Given the description of an element on the screen output the (x, y) to click on. 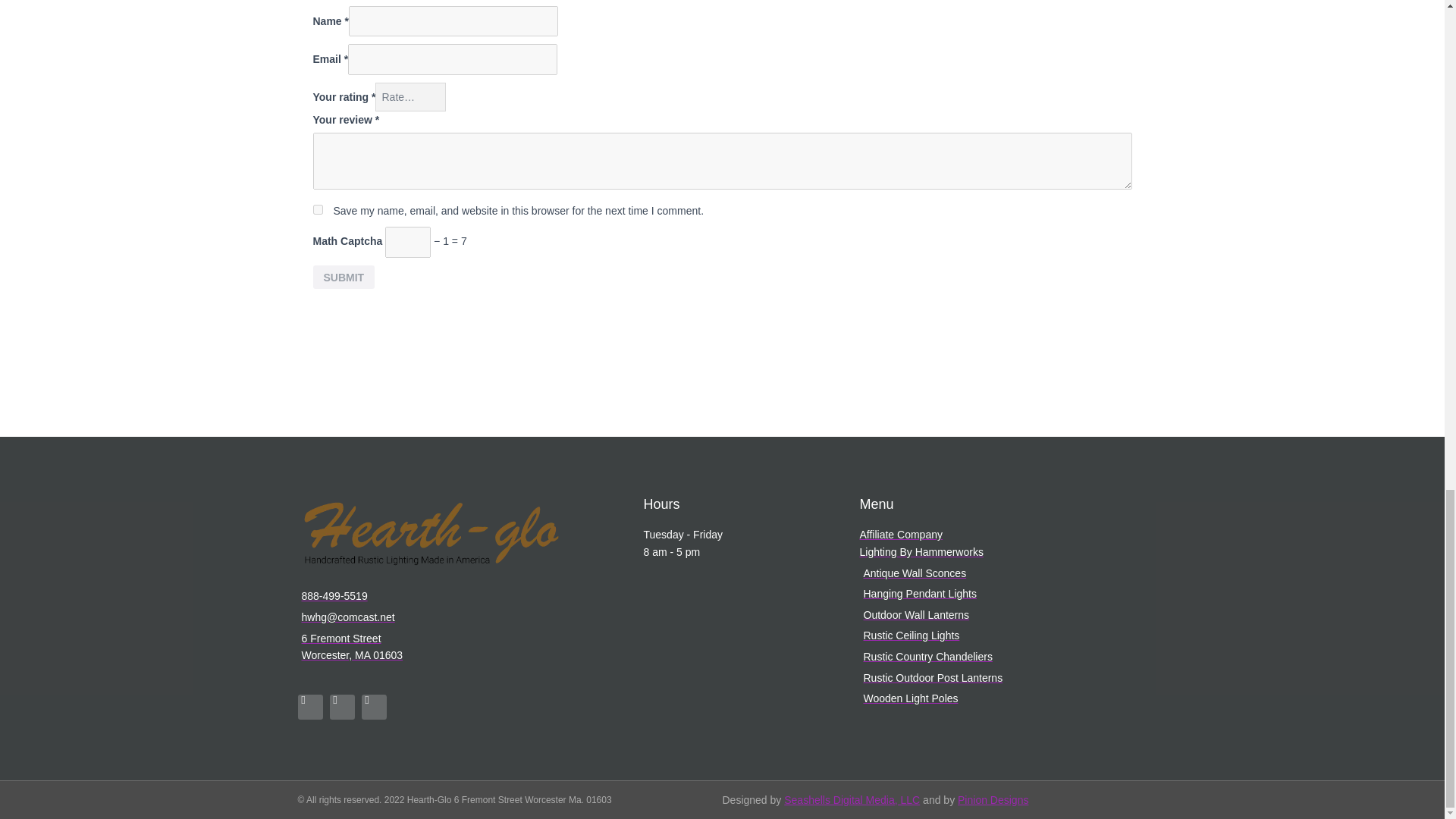
yes (317, 209)
Submit (343, 277)
